Given the description of an element on the screen output the (x, y) to click on. 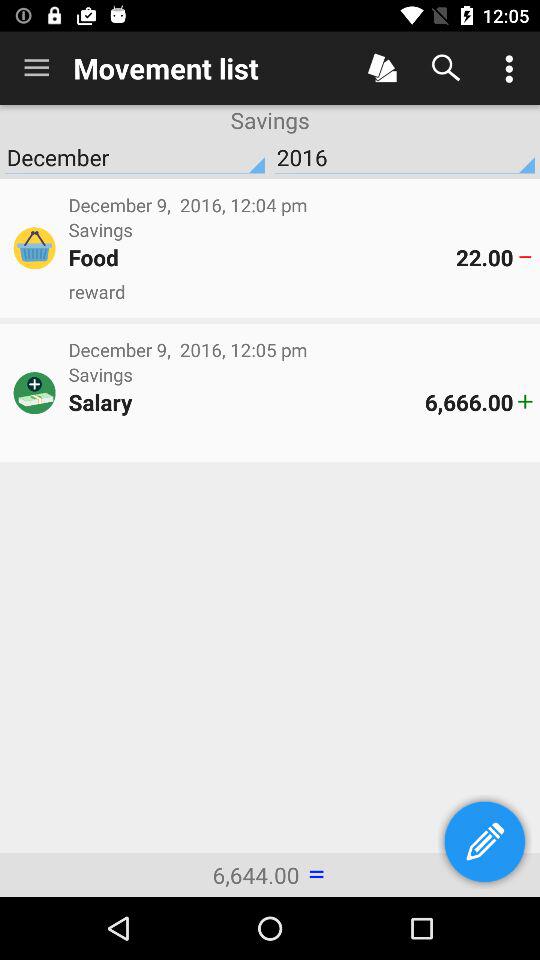
tap the icon below savings icon (246, 401)
